Given the description of an element on the screen output the (x, y) to click on. 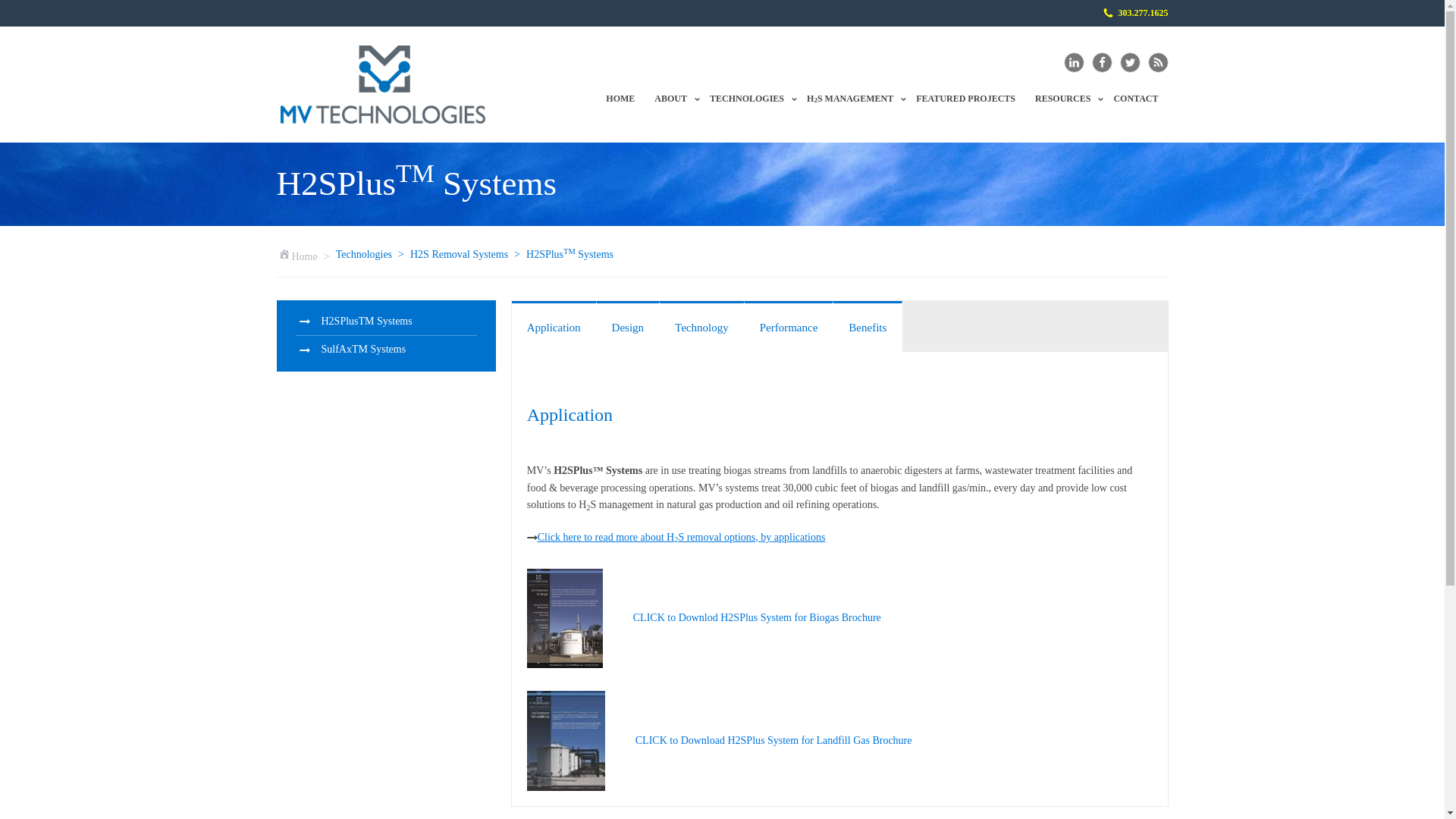
CONTACT (1135, 98)
RESOURCES (850, 98)
TECHNOLOGIES (1064, 98)
ABOUT (748, 98)
FEATURED PROJECTS (672, 98)
303.277.1625 (965, 98)
HOME (1135, 12)
